Given the description of an element on the screen output the (x, y) to click on. 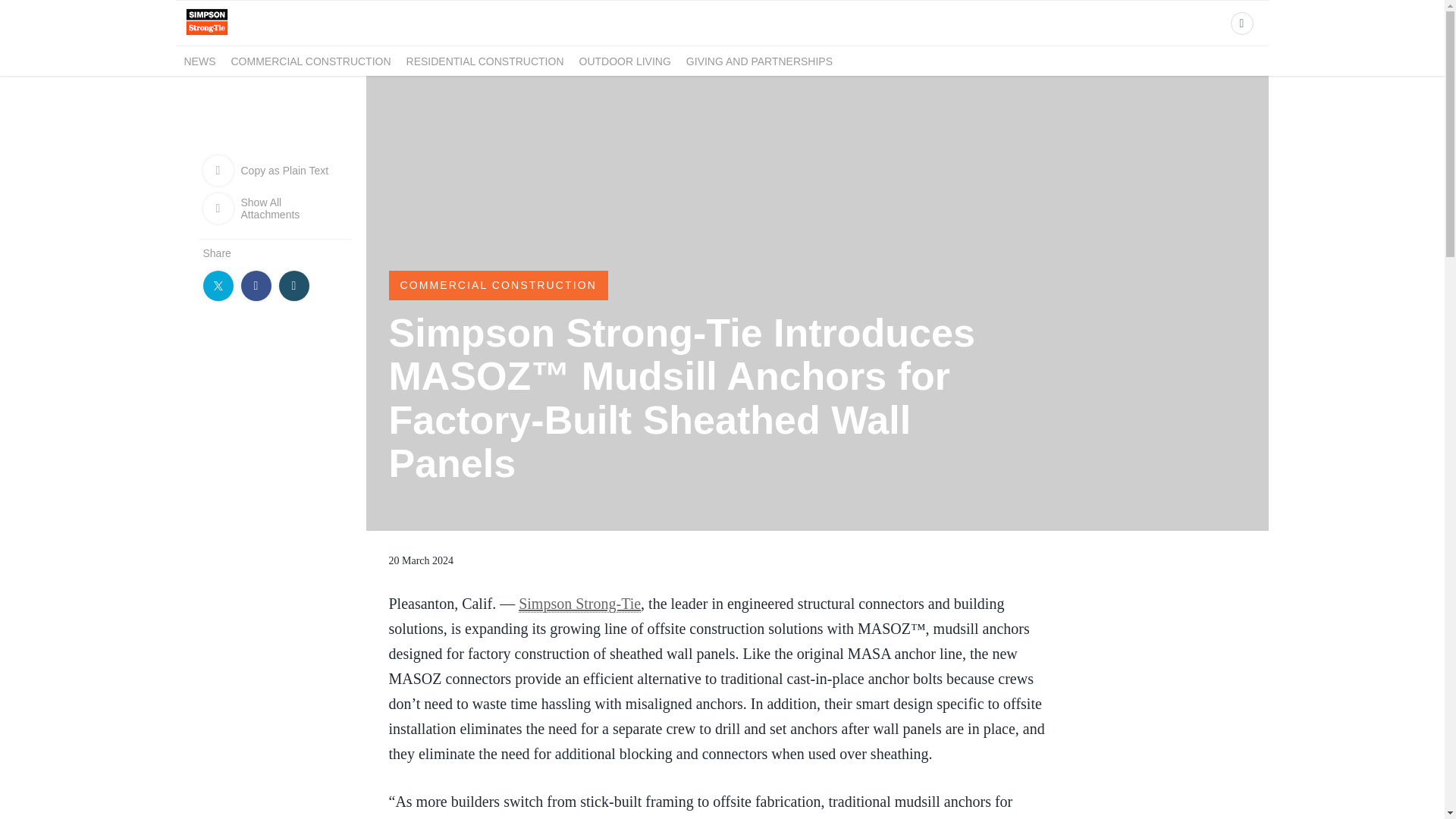
OUTDOOR LIVING (625, 61)
NEWS (199, 61)
COMMERCIAL CONSTRUCTION (310, 61)
COMMERCIAL CONSTRUCTION (497, 284)
RESIDENTIAL CONSTRUCTION (485, 61)
About Simpson Strong-Tie (206, 36)
Copy as Plain Text (274, 170)
Show All Attachments (274, 208)
Simpson Strong-Tie (579, 603)
GIVING AND PARTNERSHIPS (758, 61)
